Given the description of an element on the screen output the (x, y) to click on. 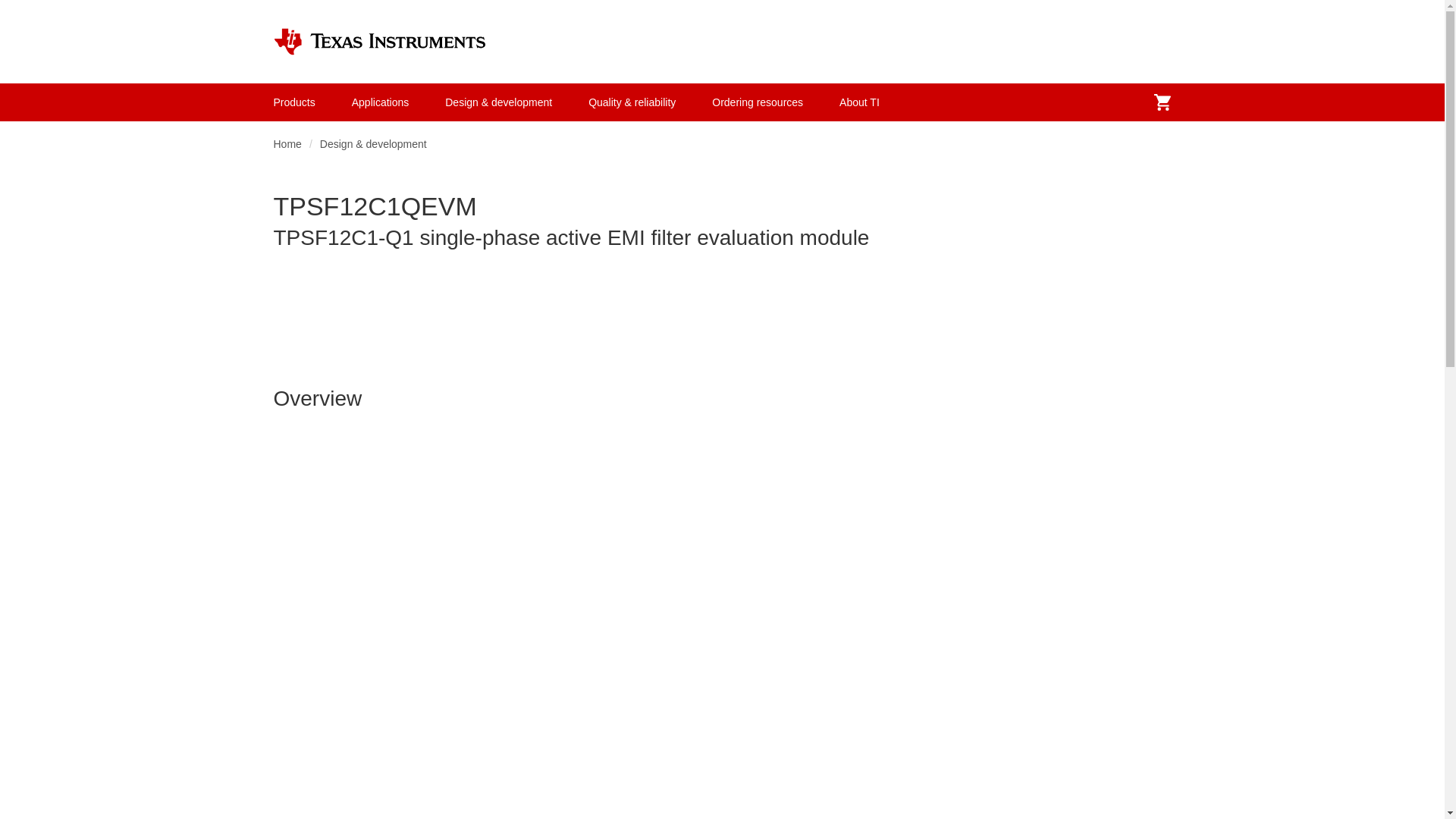
Ordering resources (757, 102)
My cart (1161, 102)
Applications (380, 102)
About TI (859, 102)
Products (293, 102)
Home (287, 143)
